Given the description of an element on the screen output the (x, y) to click on. 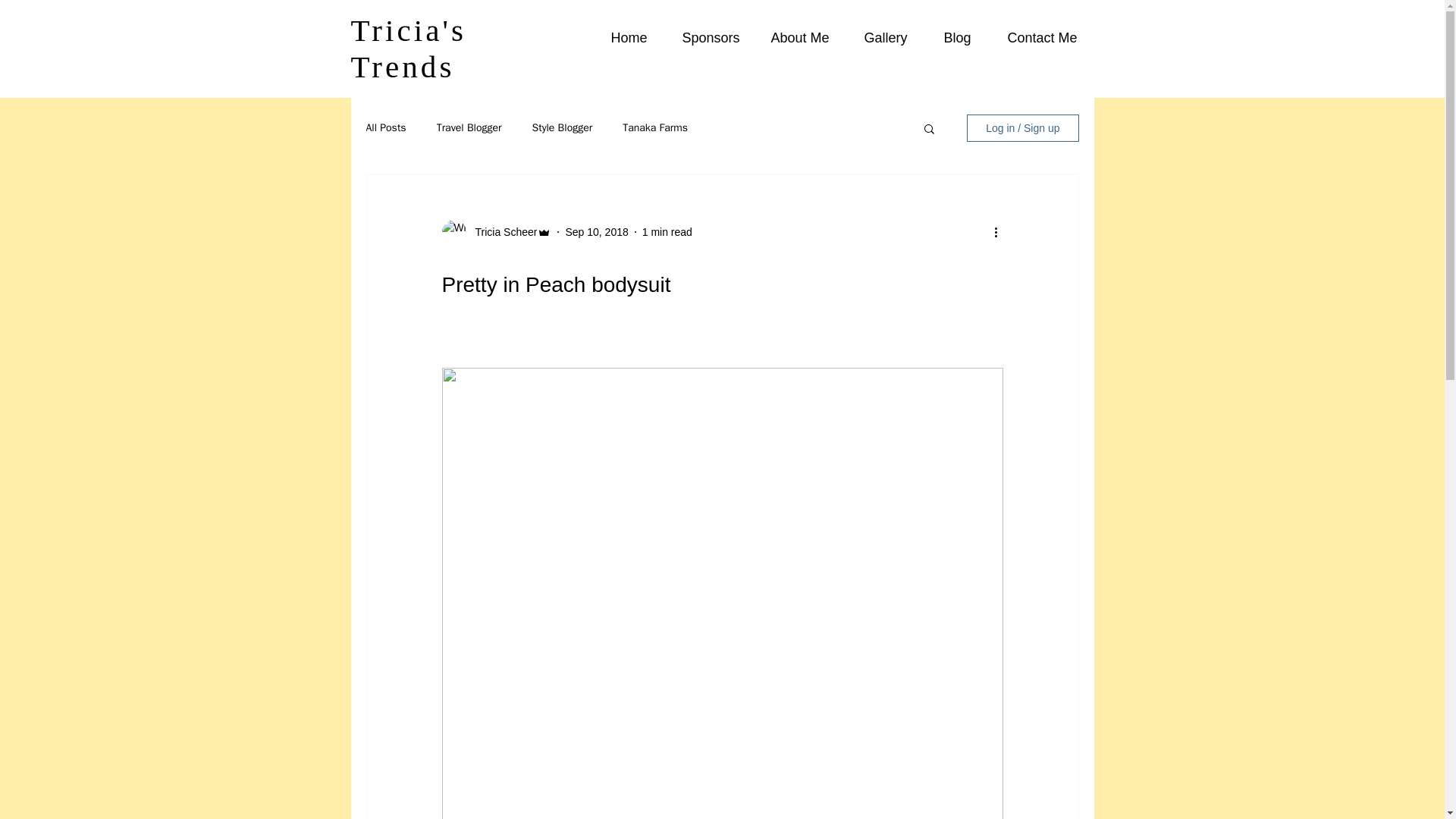
Gallery (884, 37)
All Posts (385, 128)
Style Blogger (562, 128)
Sep 10, 2018 (595, 232)
Home (626, 37)
Tricia's Trends (407, 48)
Tanaka Farms (655, 128)
Tricia Scheer (501, 232)
Travel Blogger (469, 128)
Sponsors (706, 37)
